Given the description of an element on the screen output the (x, y) to click on. 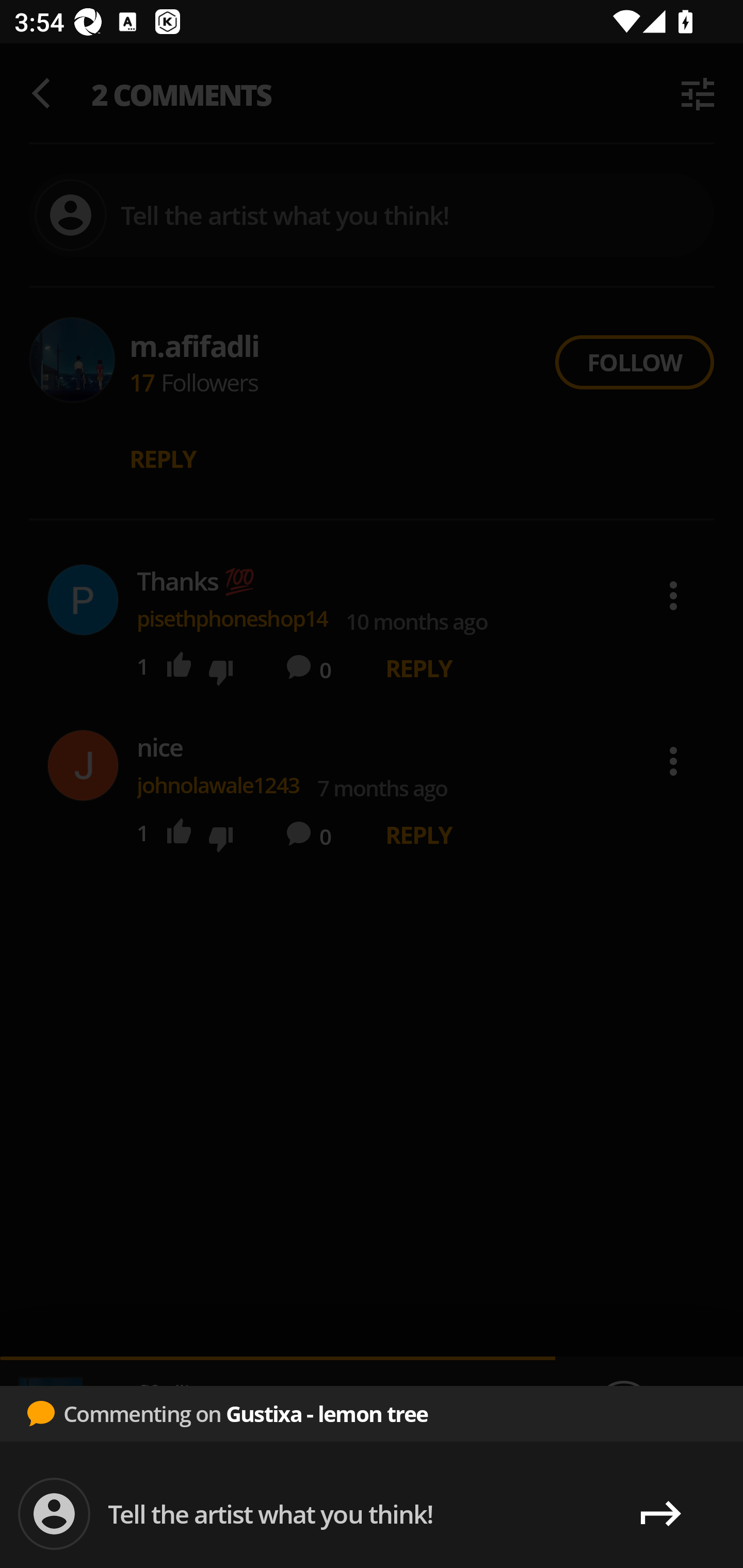
My Library (668, 1513)
